Given the description of an element on the screen output the (x, y) to click on. 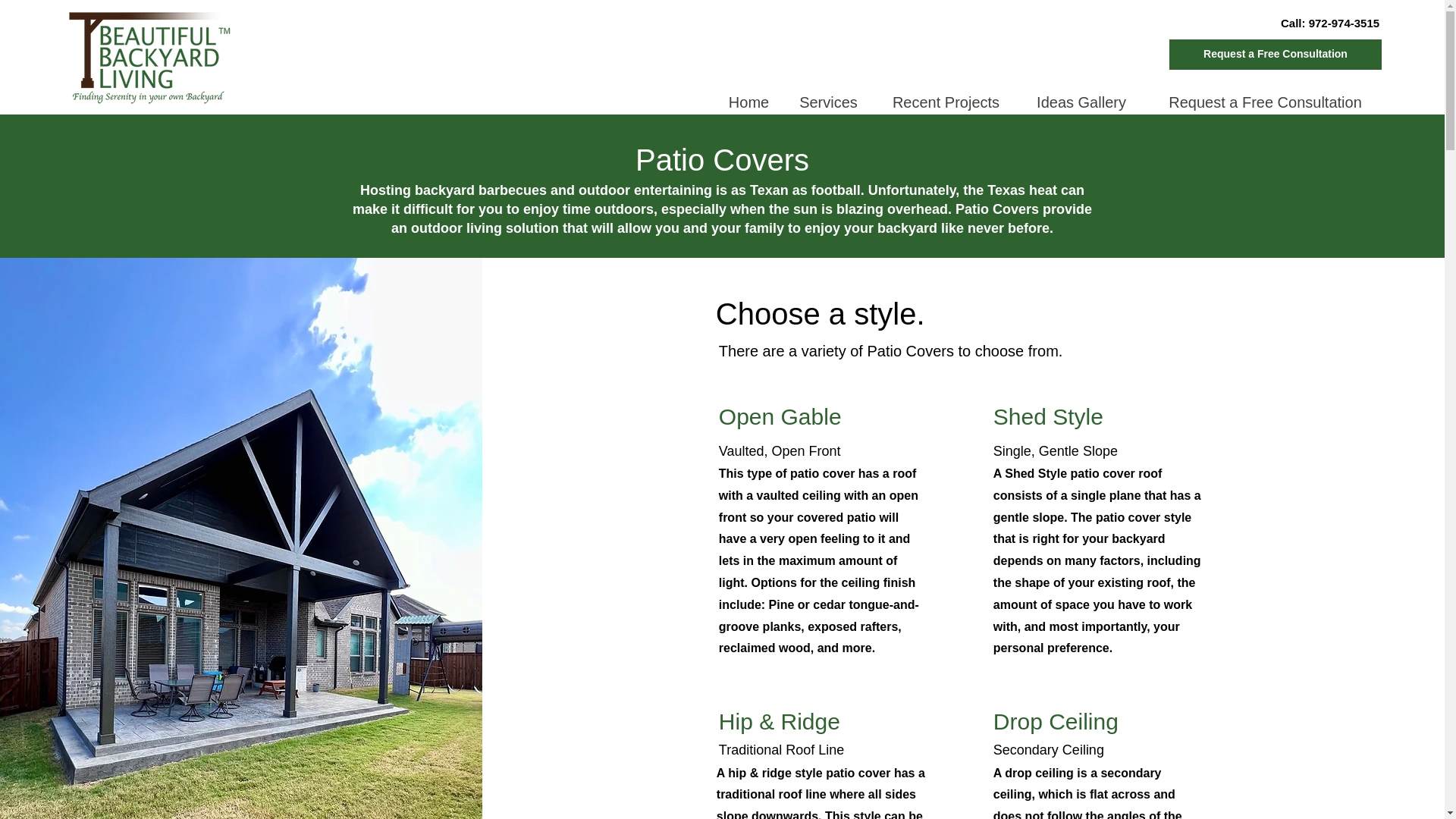
Beautifu Backyard Living (146, 55)
Request a Free Consultation (1264, 102)
Services (827, 102)
Recent Projects (944, 102)
Ideas Gallery (1079, 102)
Request a Free Consultation (1275, 54)
Home (748, 102)
